Given the description of an element on the screen output the (x, y) to click on. 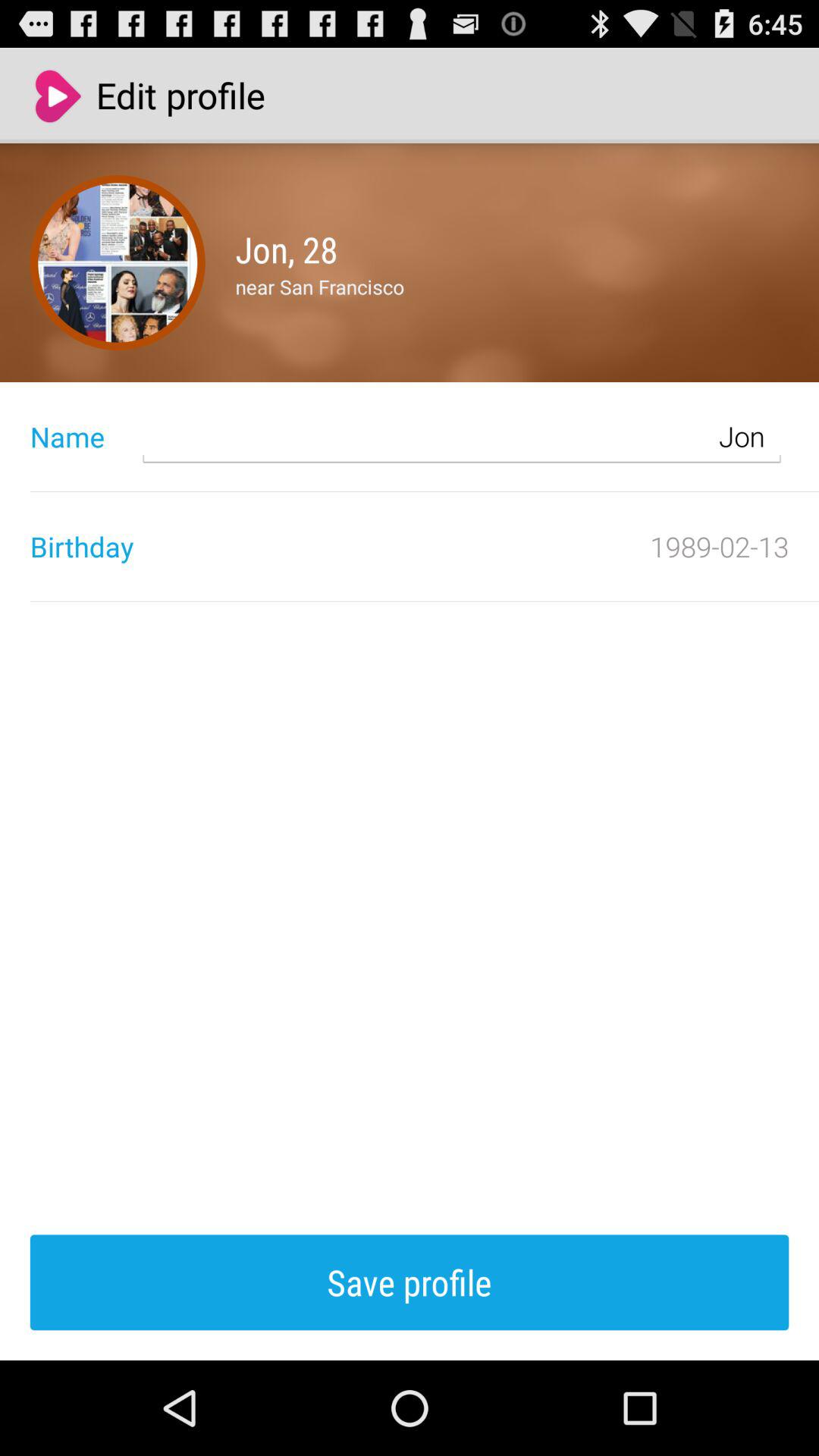
see profile picture (117, 262)
